Given the description of an element on the screen output the (x, y) to click on. 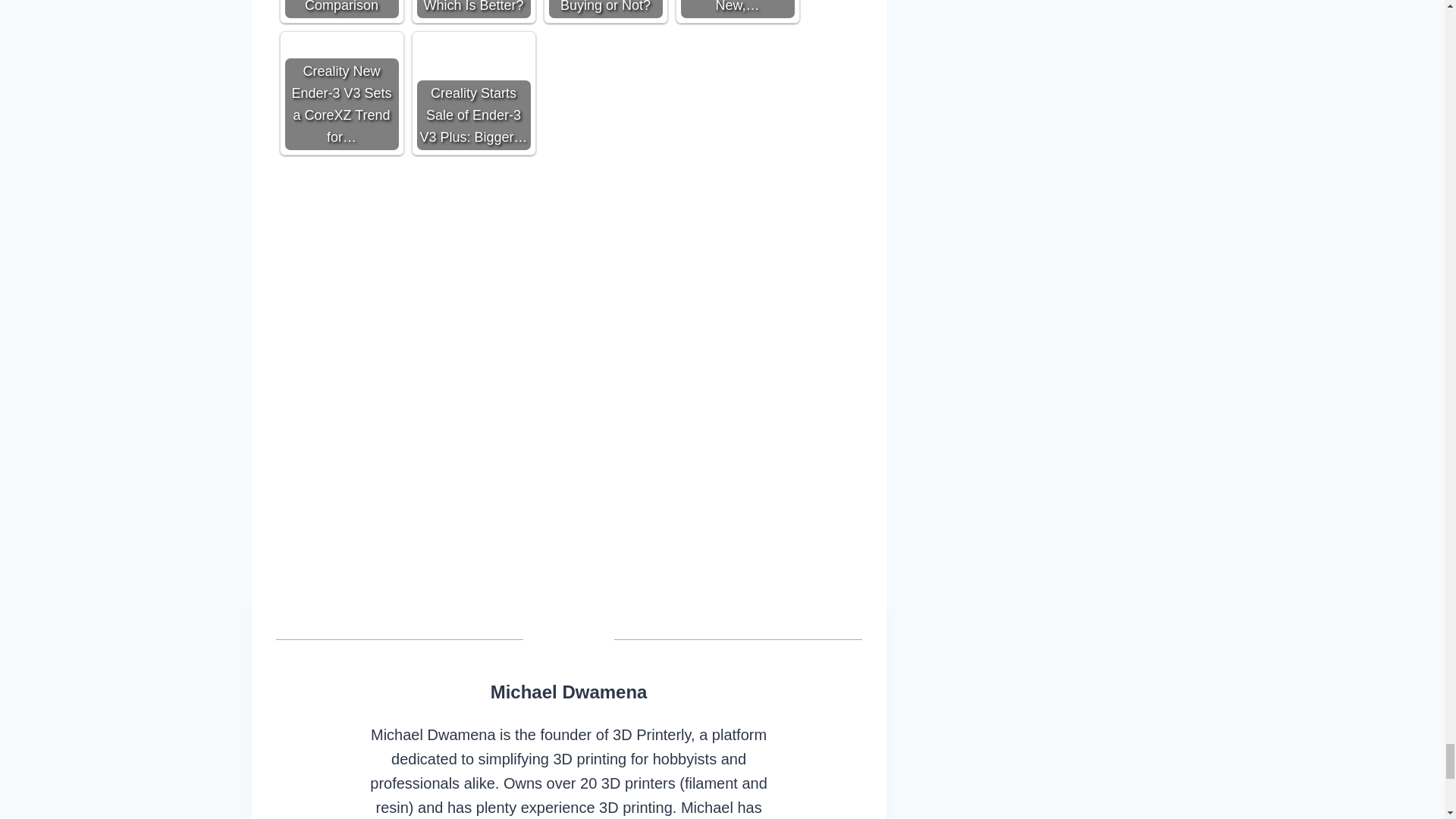
Posts by Michael Dwamena (568, 691)
